Given the description of an element on the screen output the (x, y) to click on. 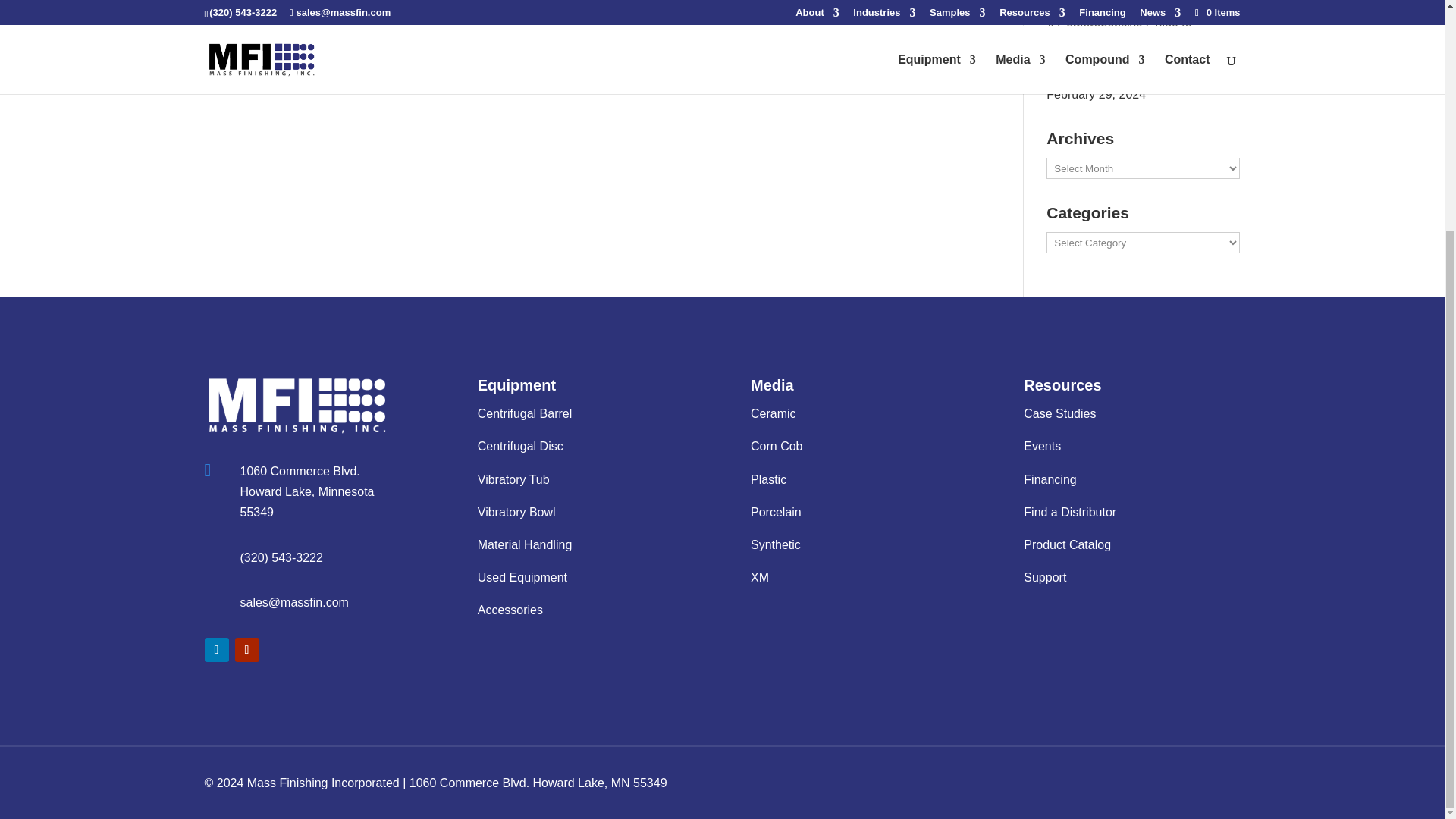
Follow on LinkedIn (216, 649)
Follow on Youtube (246, 649)
MFI White Logo (297, 405)
